Given the description of an element on the screen output the (x, y) to click on. 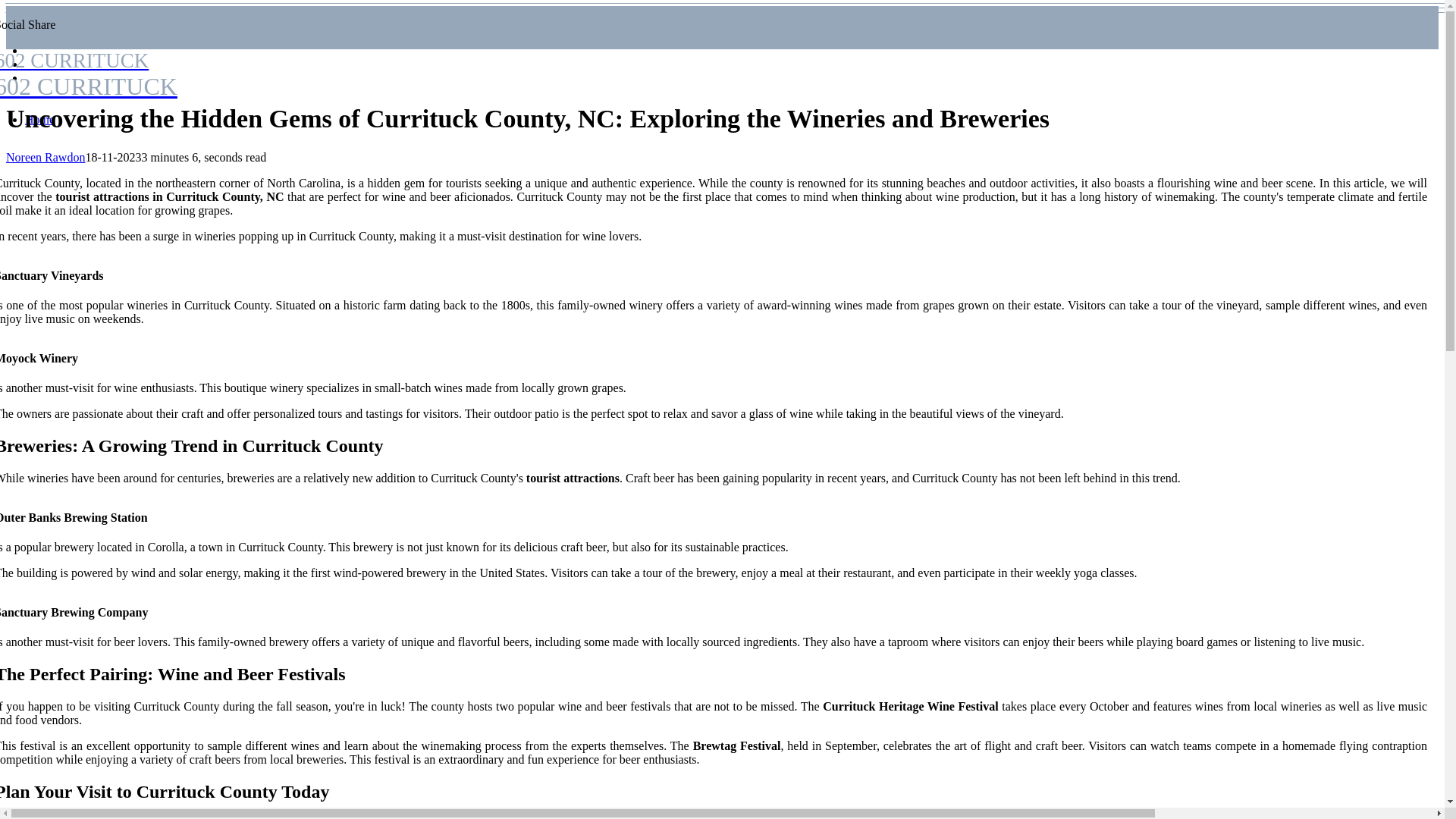
Home (39, 119)
Posts by Noreen Rawdon (44, 156)
Noreen Rawdon (44, 156)
